Given the description of an element on the screen output the (x, y) to click on. 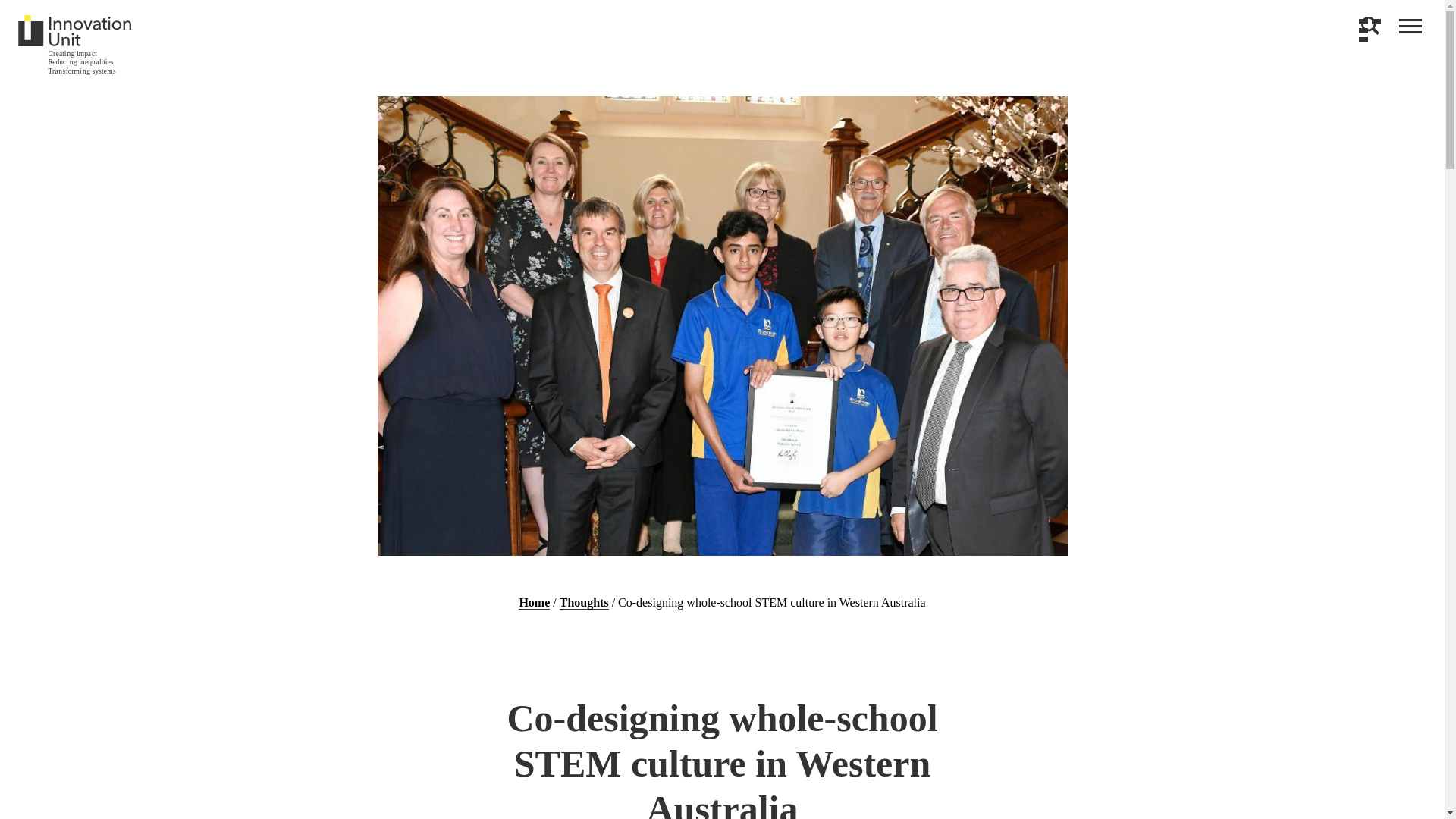
Search (1369, 25)
Back (1373, 26)
Home (534, 602)
Thoughts (583, 602)
